Given the description of an element on the screen output the (x, y) to click on. 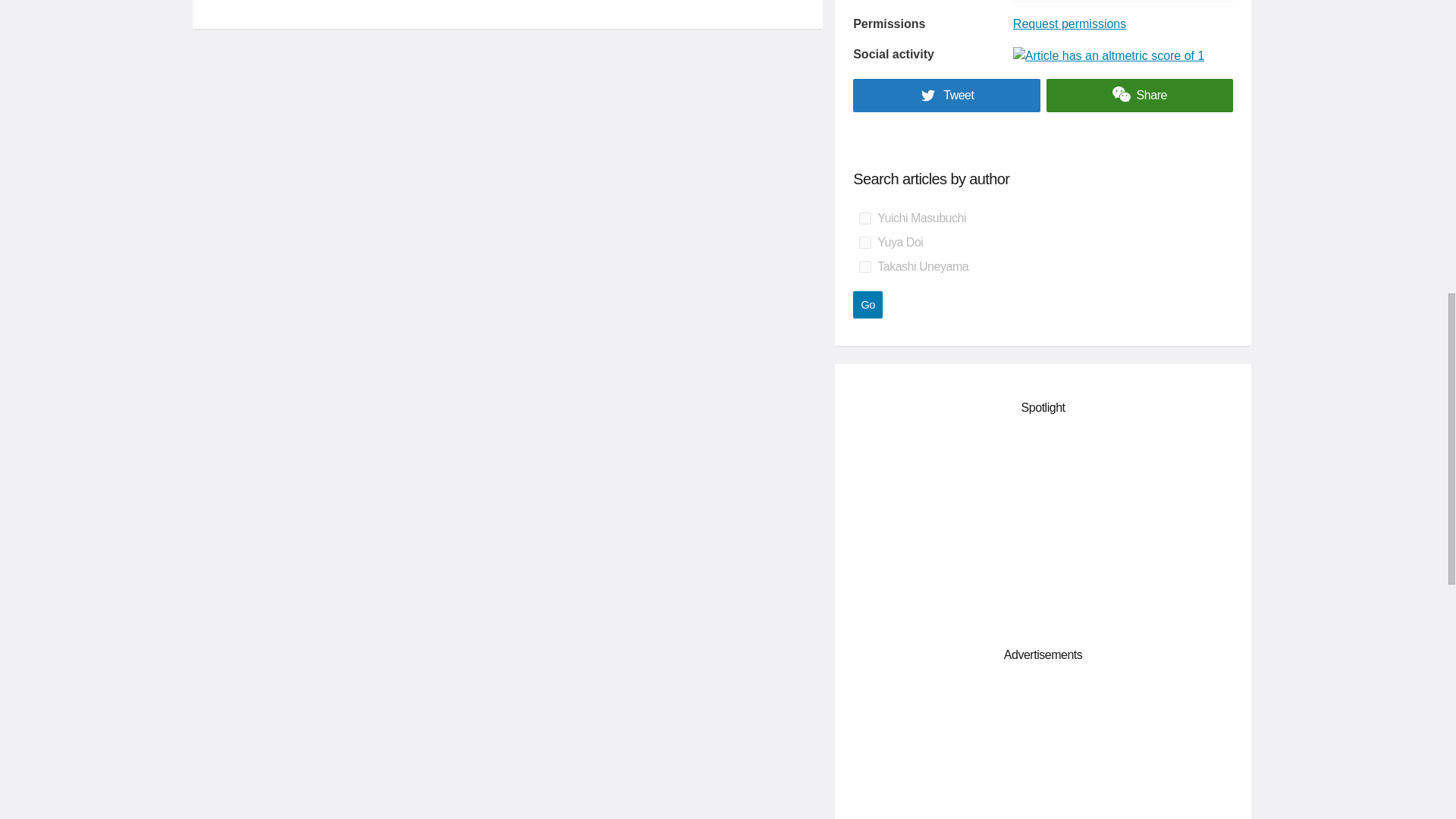
Request permissions (1068, 23)
3rd party ad content (1043, 749)
on (864, 218)
Go (867, 304)
Go (867, 304)
3rd party ad content (1043, 528)
on (864, 266)
on (864, 242)
